Given the description of an element on the screen output the (x, y) to click on. 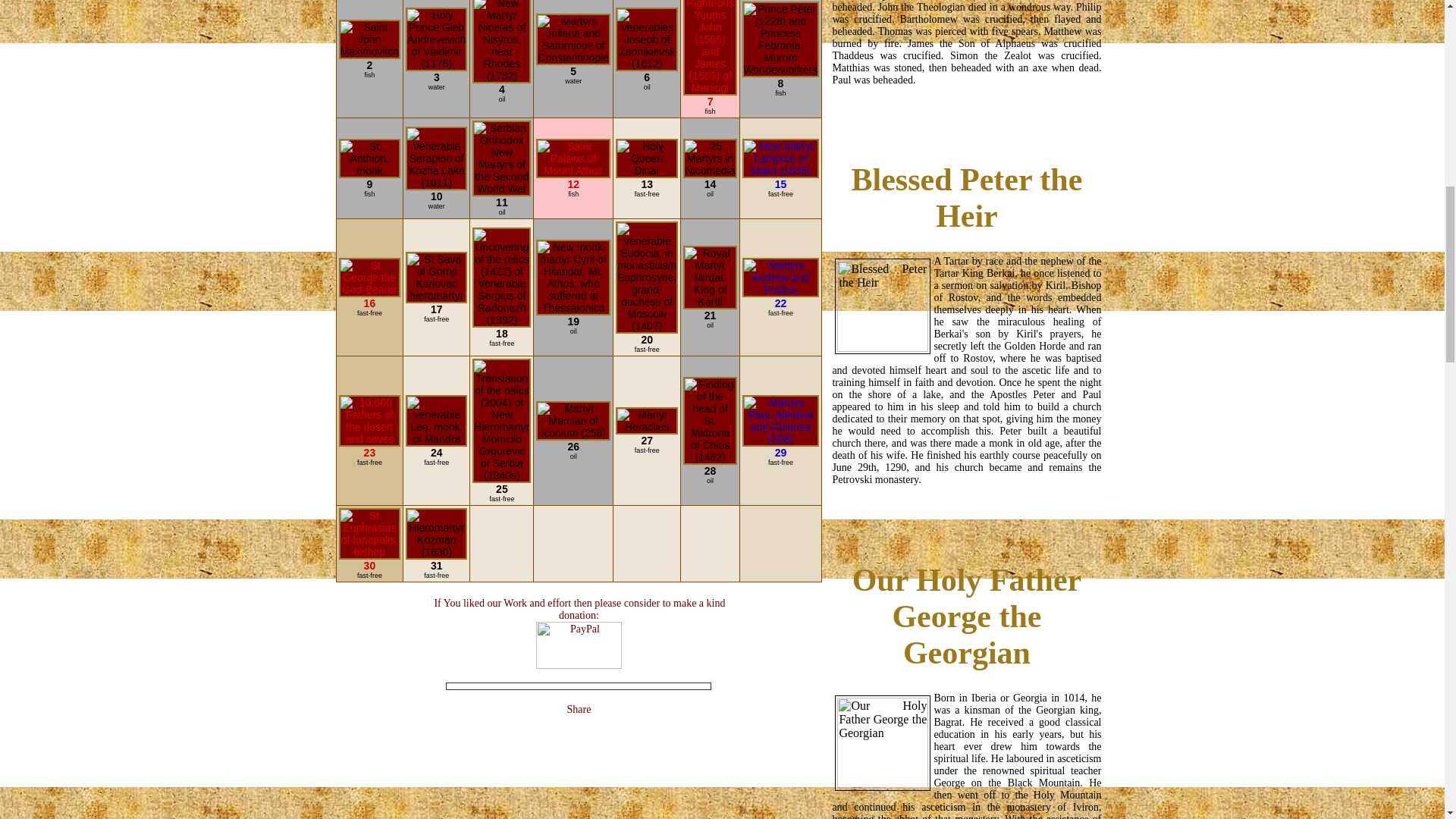
READ MORE... (966, 112)
READ MORE... (966, 512)
